Given the description of an element on the screen output the (x, y) to click on. 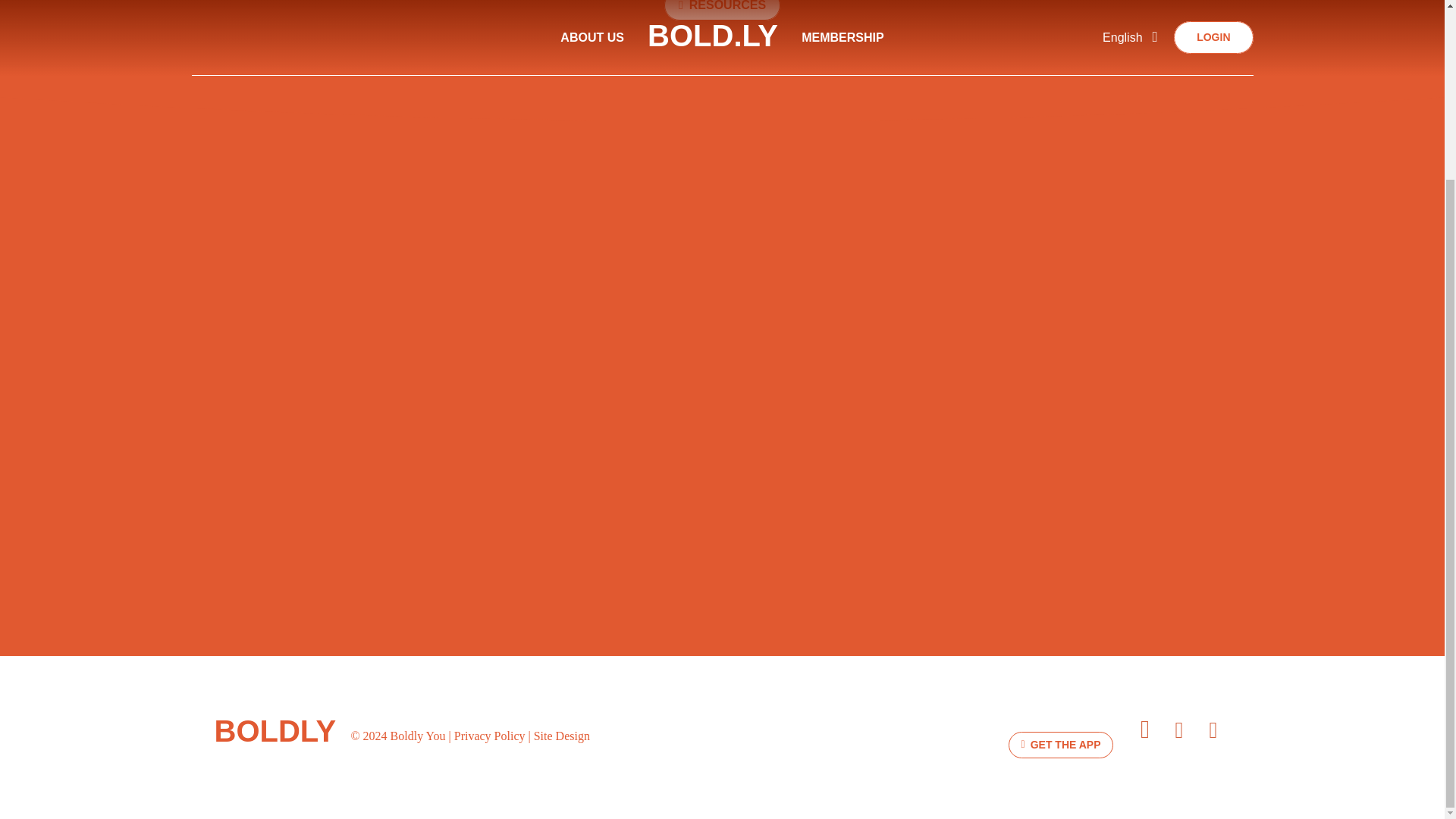
RESOURCES (721, 10)
Privacy Policy (489, 735)
Site Design (561, 735)
GET THE APP (1061, 745)
